Given the description of an element on the screen output the (x, y) to click on. 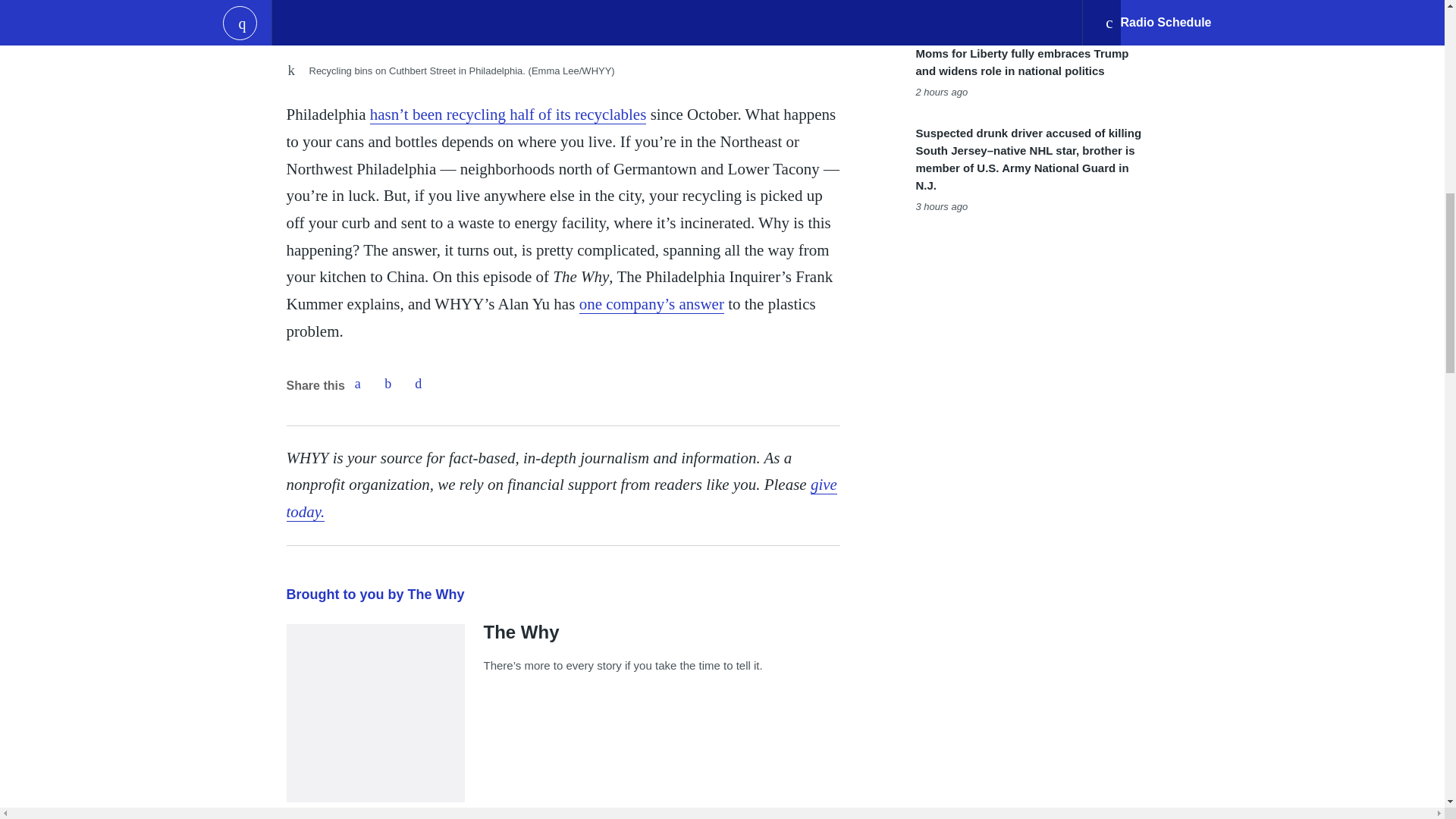
Facebook (357, 383)
Email (418, 383)
Twitter (387, 383)
